Given the description of an element on the screen output the (x, y) to click on. 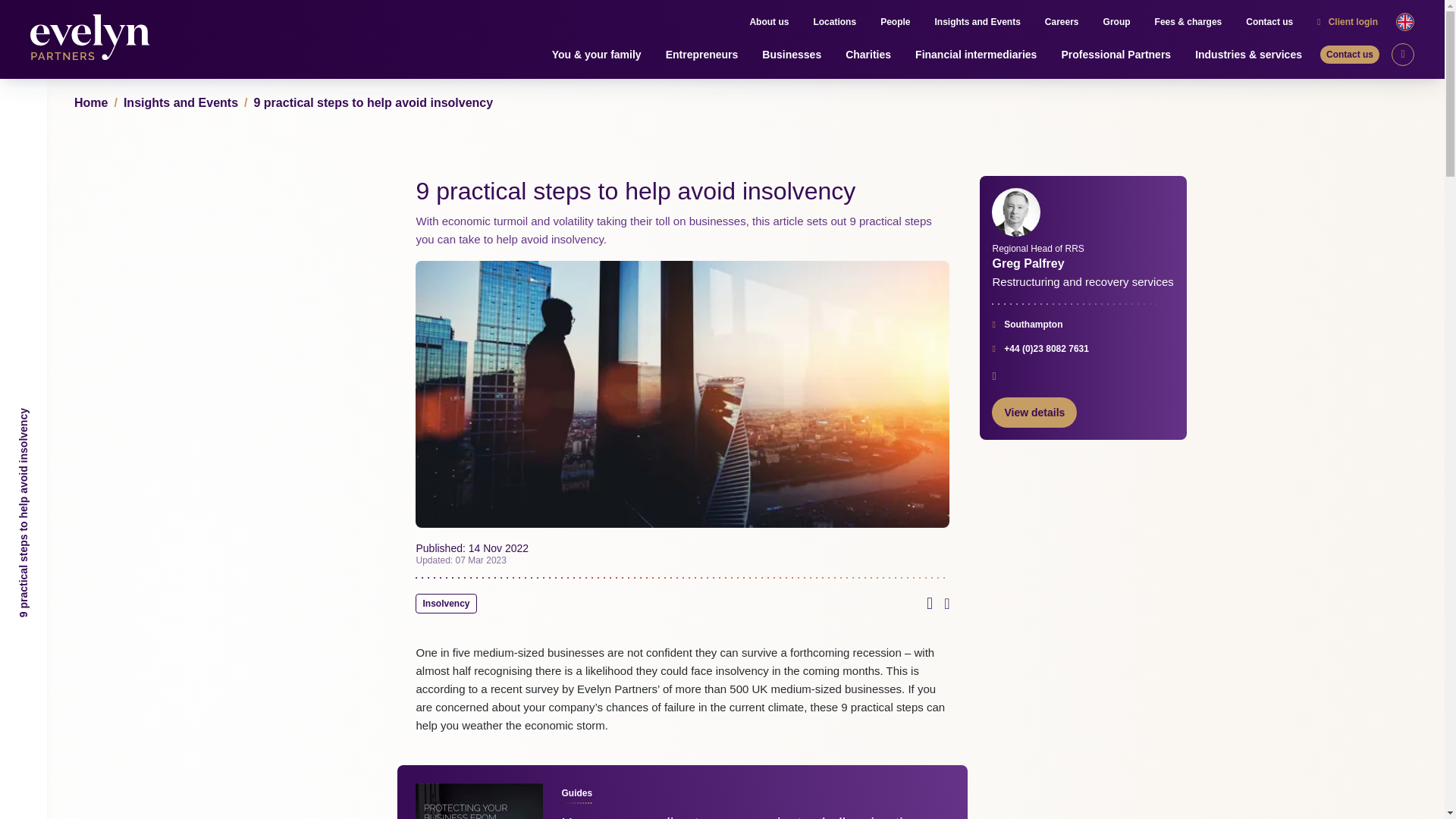
Careers (1061, 22)
Locations (833, 22)
About us (768, 22)
Insights and Events (977, 22)
Businesses (791, 54)
People (895, 22)
Group (1117, 22)
Entrepreneurs (701, 54)
Evelyn (93, 38)
Client login (1347, 22)
